Given the description of an element on the screen output the (x, y) to click on. 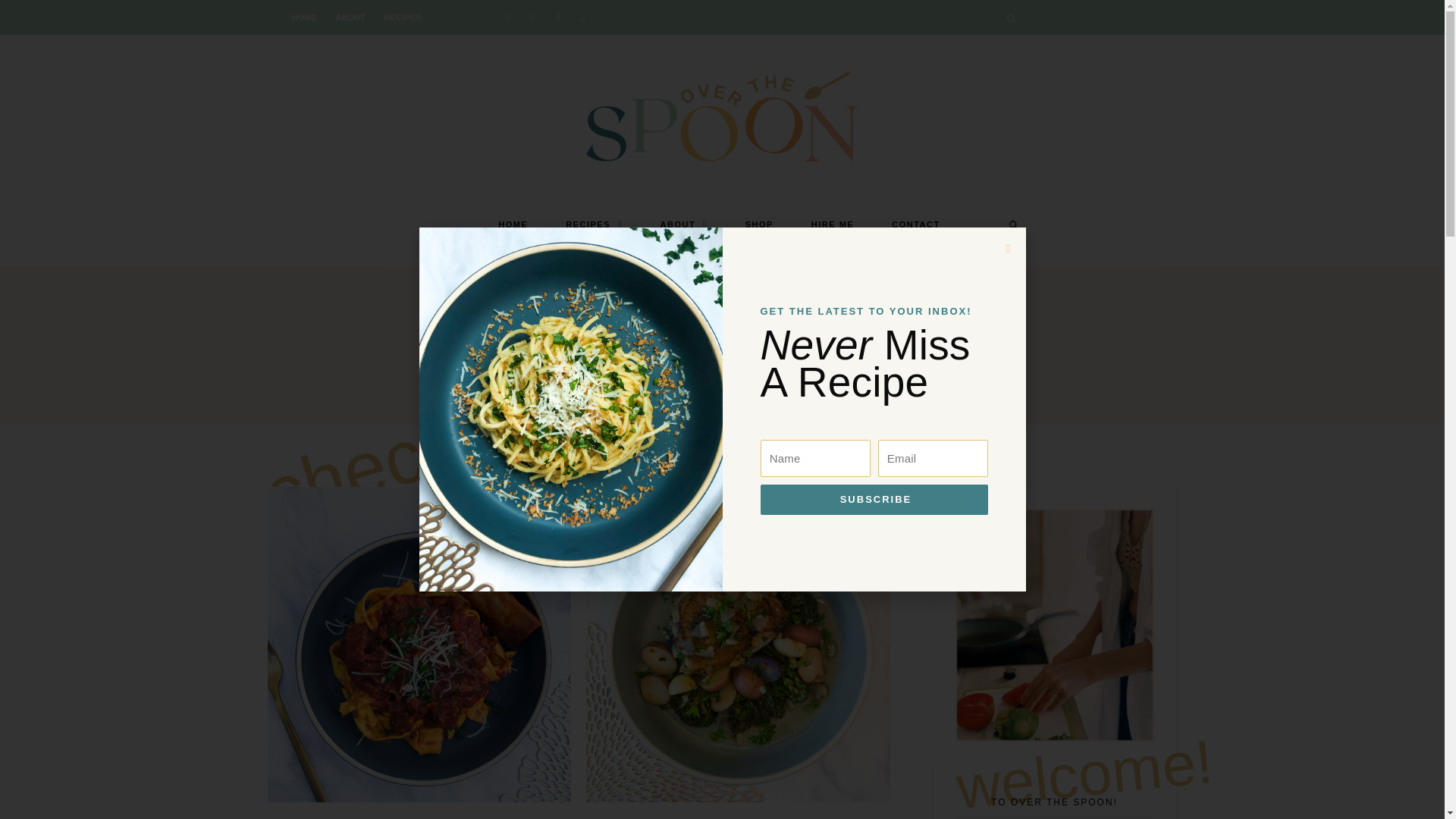
SHOP (759, 224)
ABOUT (350, 17)
HIRE ME (832, 224)
HOME (513, 224)
CONTACT (915, 224)
SUBSCRIBE (873, 462)
Never Miss A Recipe (873, 364)
TO OVER THE SPOON! (1054, 806)
WE HEARD YOU'RE INTERESTED IN: (721, 319)
"Sage" (721, 352)
RECIPES (593, 224)
ABOUT (684, 224)
welcome! (1054, 757)
HOME (304, 17)
RECIPES (402, 17)
